Given the description of an element on the screen output the (x, y) to click on. 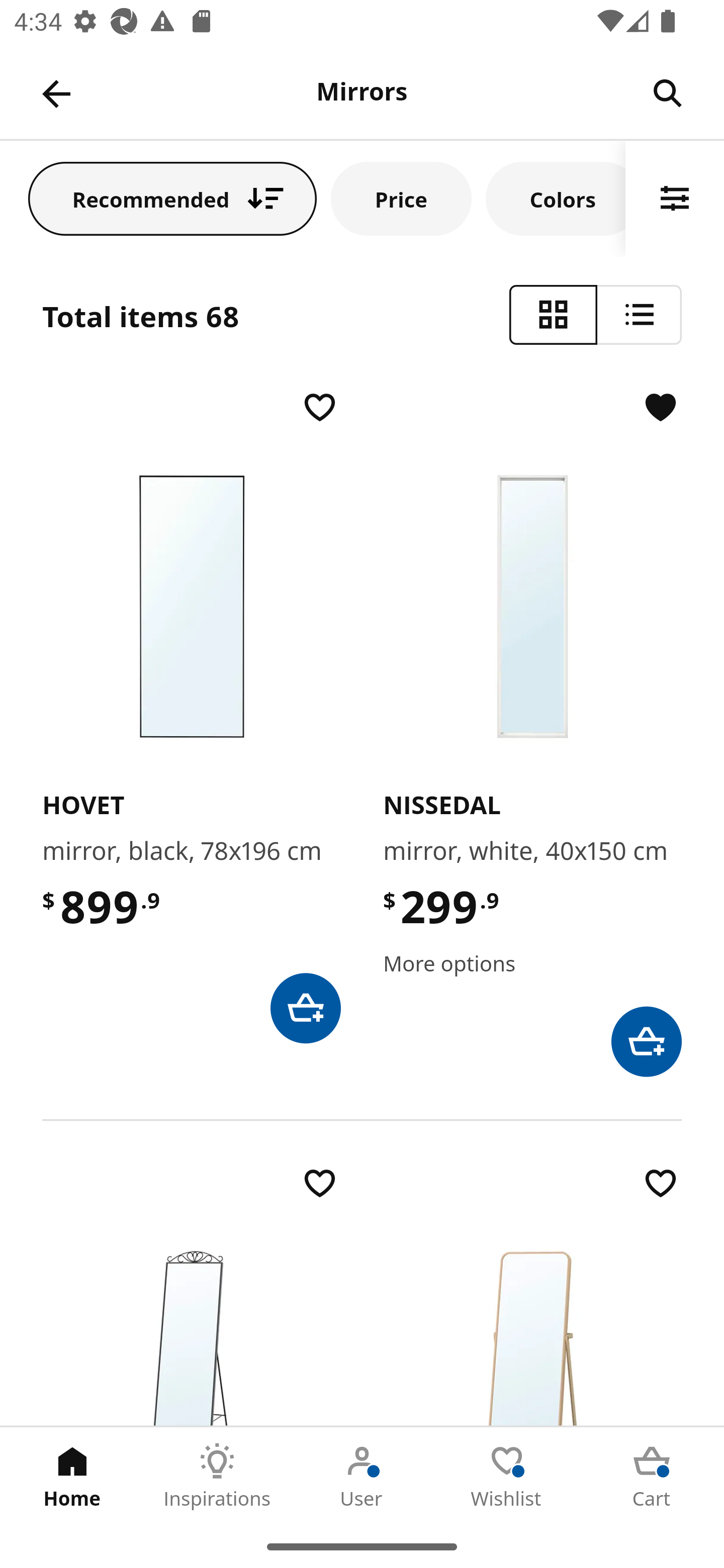
Recommended (172, 198)
Price (400, 198)
Colors (555, 198)
​H​O​V​E​T​
mirror, black, 78x196 cm
$
899
.9 (191, 714)
Home
Tab 1 of 5 (72, 1476)
Inspirations
Tab 2 of 5 (216, 1476)
